Given the description of an element on the screen output the (x, y) to click on. 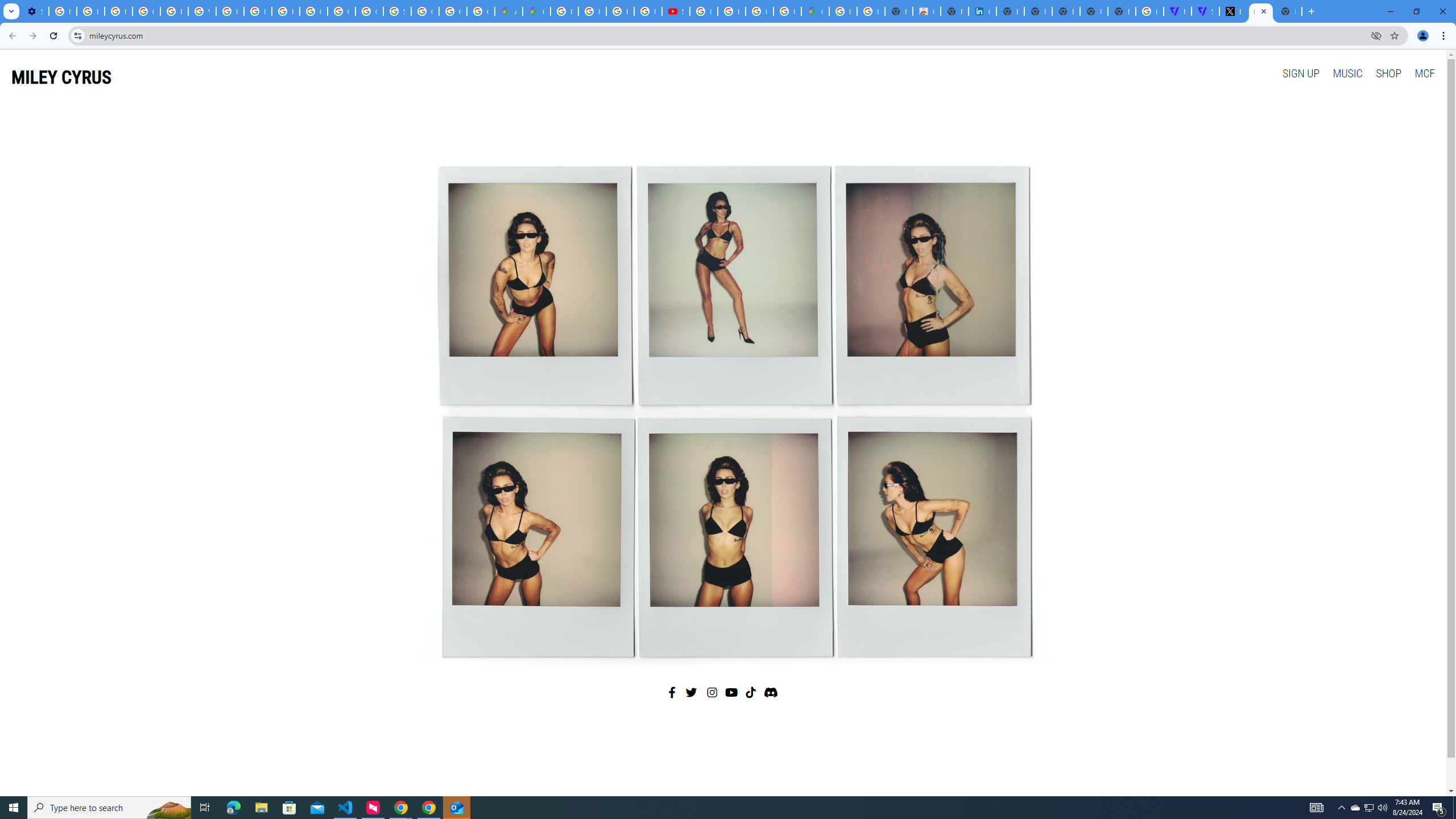
How Chrome protects your passwords - Google Chrome Help (703, 11)
Privacy Help Center - Policies Help (620, 11)
Instagram (712, 692)
SIGN UP (1300, 73)
MILEY CYRUS. (1260, 11)
Streaming - The Verge (1205, 11)
Blogger Policies and Guidelines - Transparency Center (564, 11)
